Given the description of an element on the screen output the (x, y) to click on. 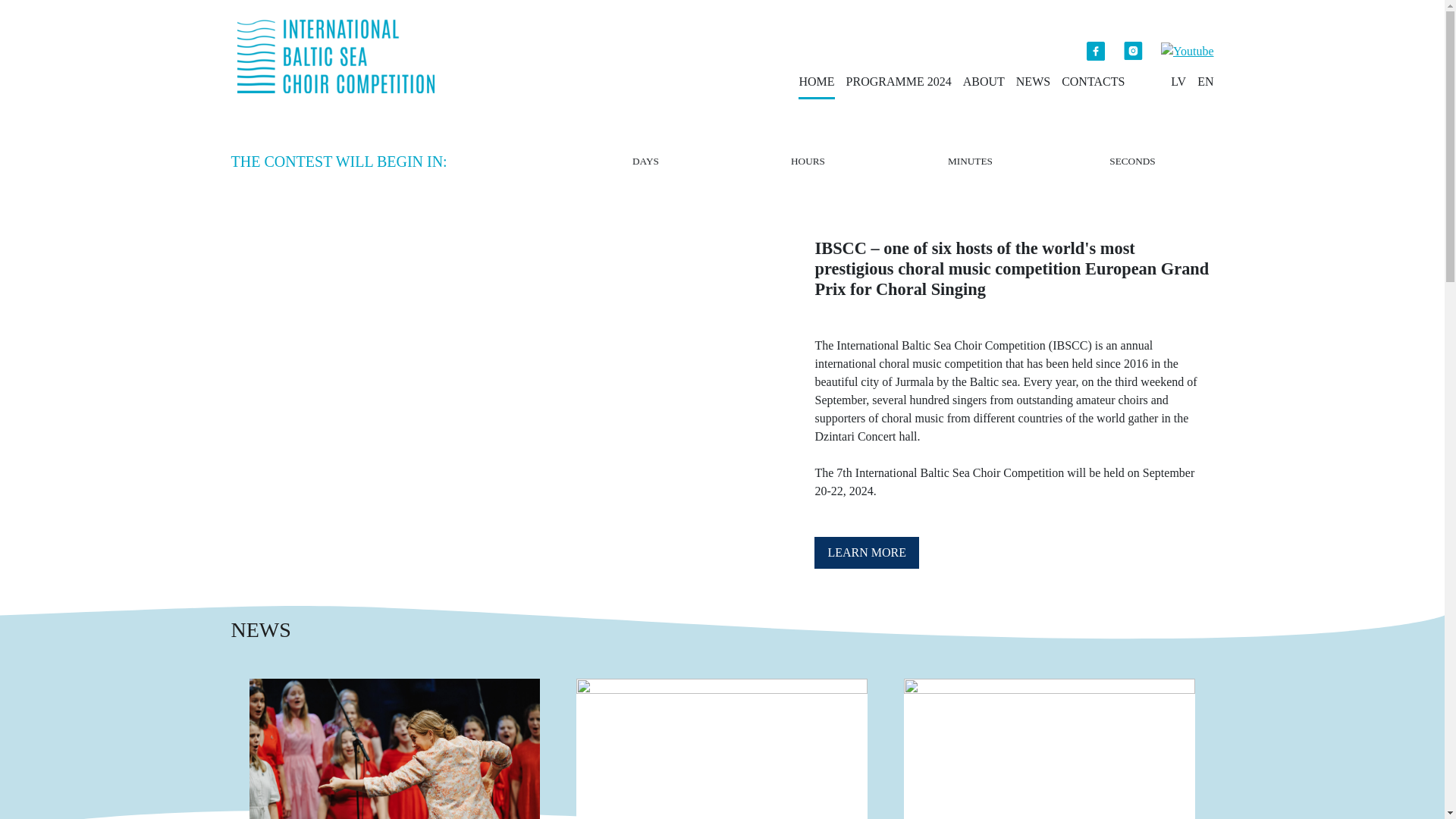
PROGRAMME 2024 (898, 81)
NEWS (1032, 81)
CONTACTS (1092, 81)
ABOUT (983, 81)
HOME (815, 82)
